Given the description of an element on the screen output the (x, y) to click on. 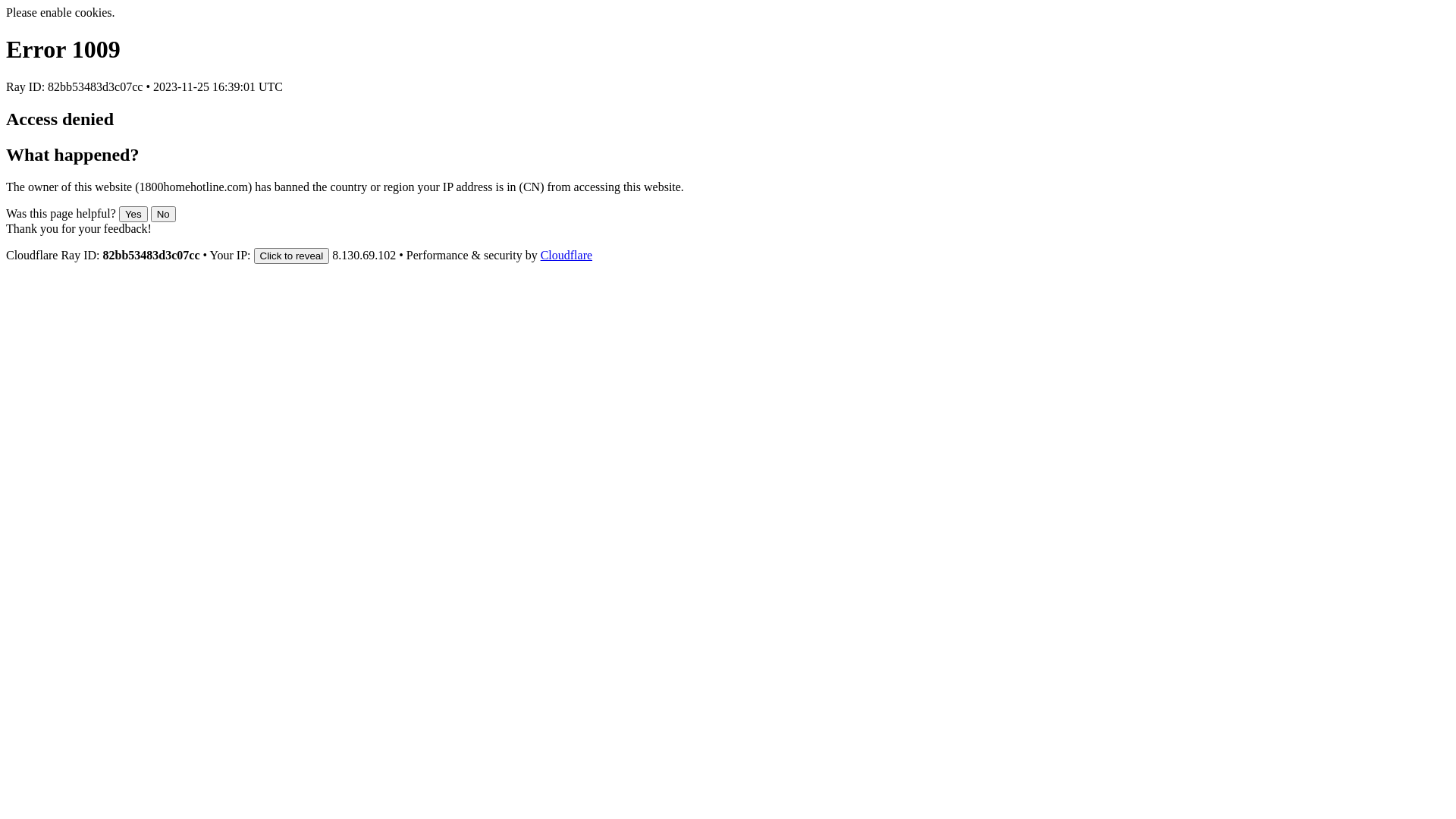
Yes Element type: text (133, 214)
Cloudflare Element type: text (566, 254)
Click to reveal Element type: text (291, 255)
No Element type: text (162, 214)
